Given the description of an element on the screen output the (x, y) to click on. 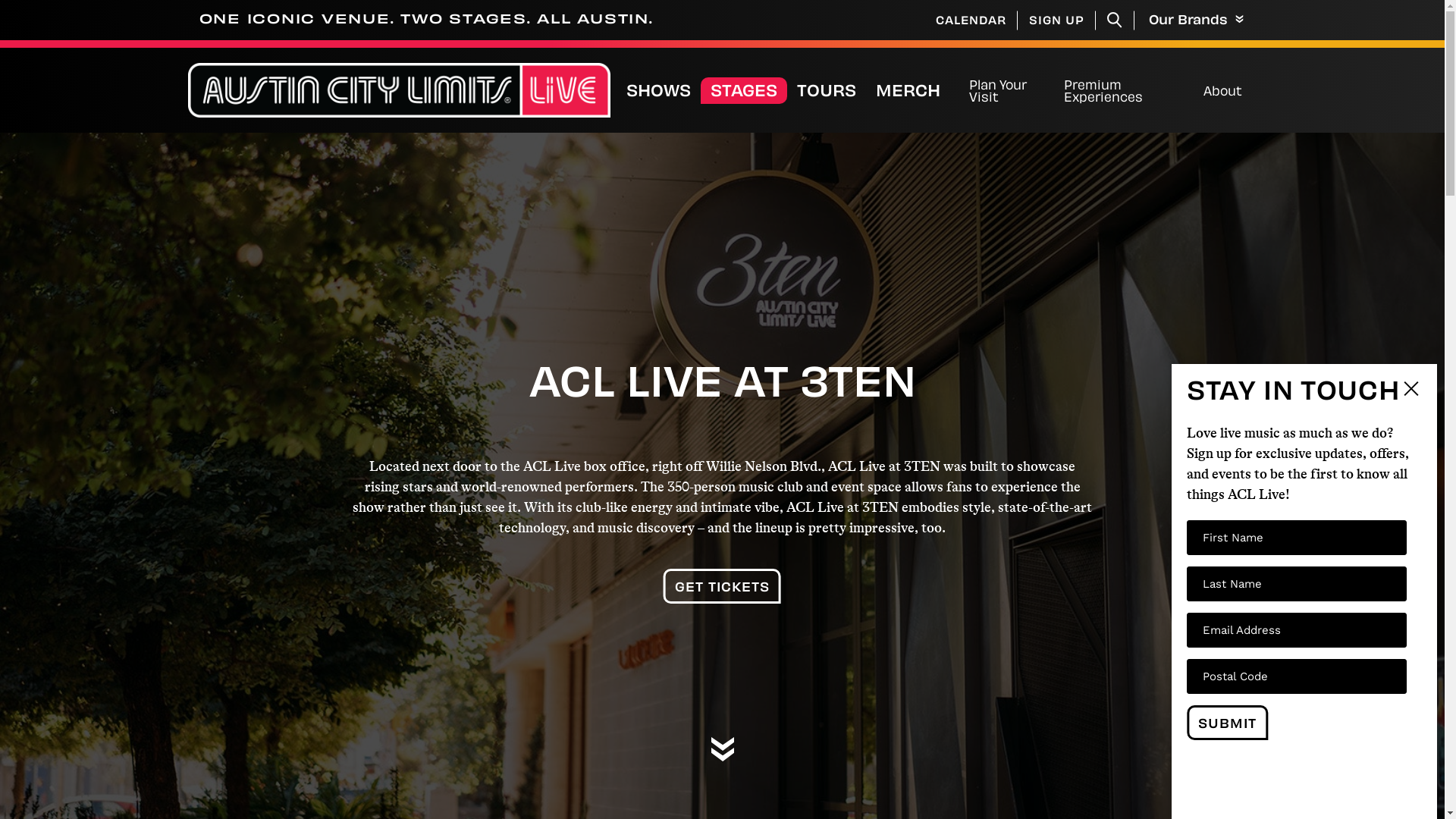
SUBMIT Element type: text (1226, 722)
Our Brands Element type: text (1191, 20)
SIGN UP Element type: text (1056, 19)
Premium Experiences Element type: text (1125, 89)
GET TICKETS Element type: text (722, 585)
SHOWS Element type: text (657, 90)
STAGES Element type: text (743, 90)
Plan Your Visit Element type: text (1008, 89)
Close Form Element type: text (1410, 390)
About Element type: text (1221, 89)
Austin City Limits Live Element type: hover (399, 90)
CALENDAR Element type: text (969, 19)
MERCH Element type: text (915, 90)
TOURS Element type: text (826, 90)
